Given the description of an element on the screen output the (x, y) to click on. 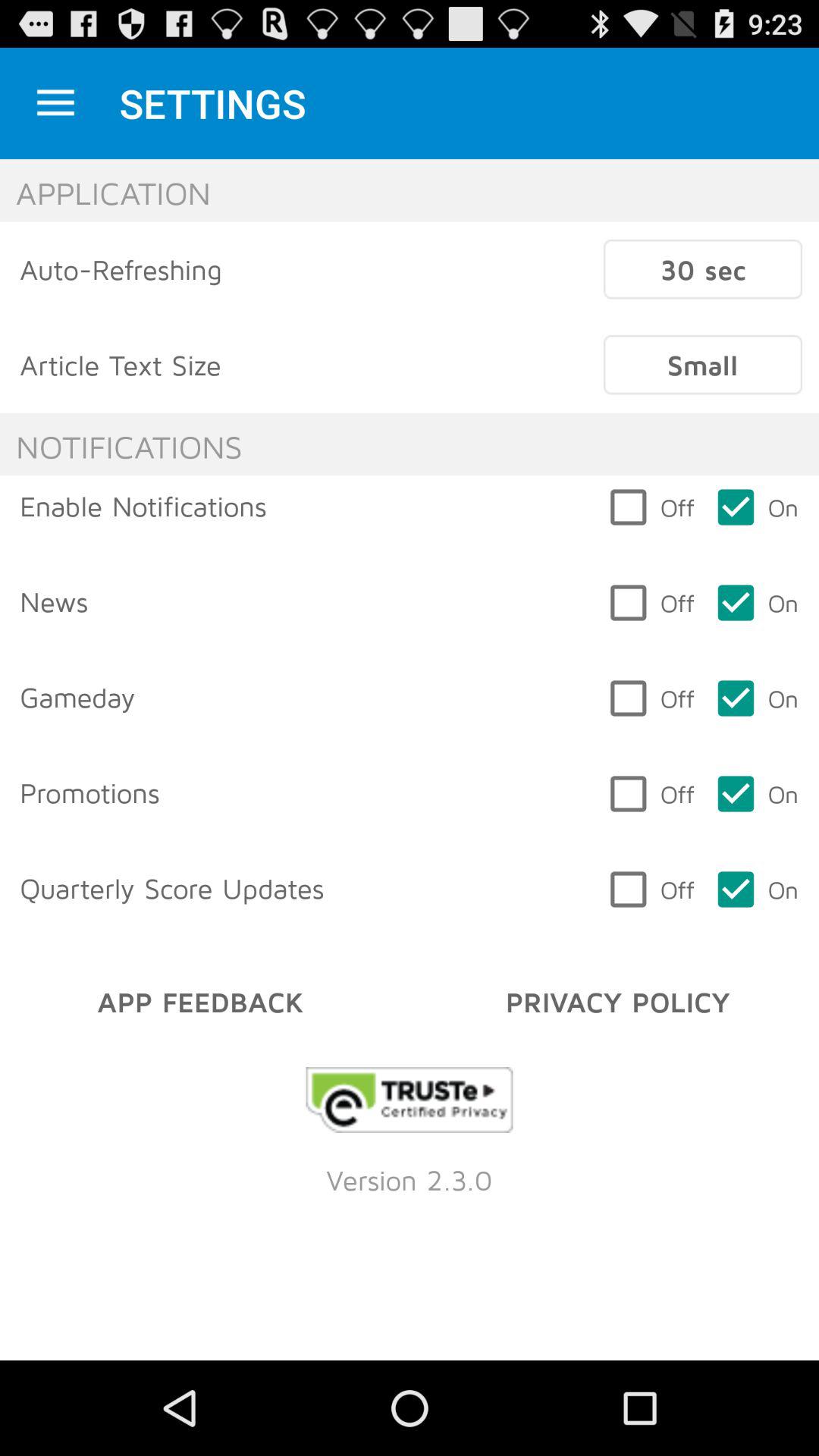
go to menu (55, 103)
